Given the description of an element on the screen output the (x, y) to click on. 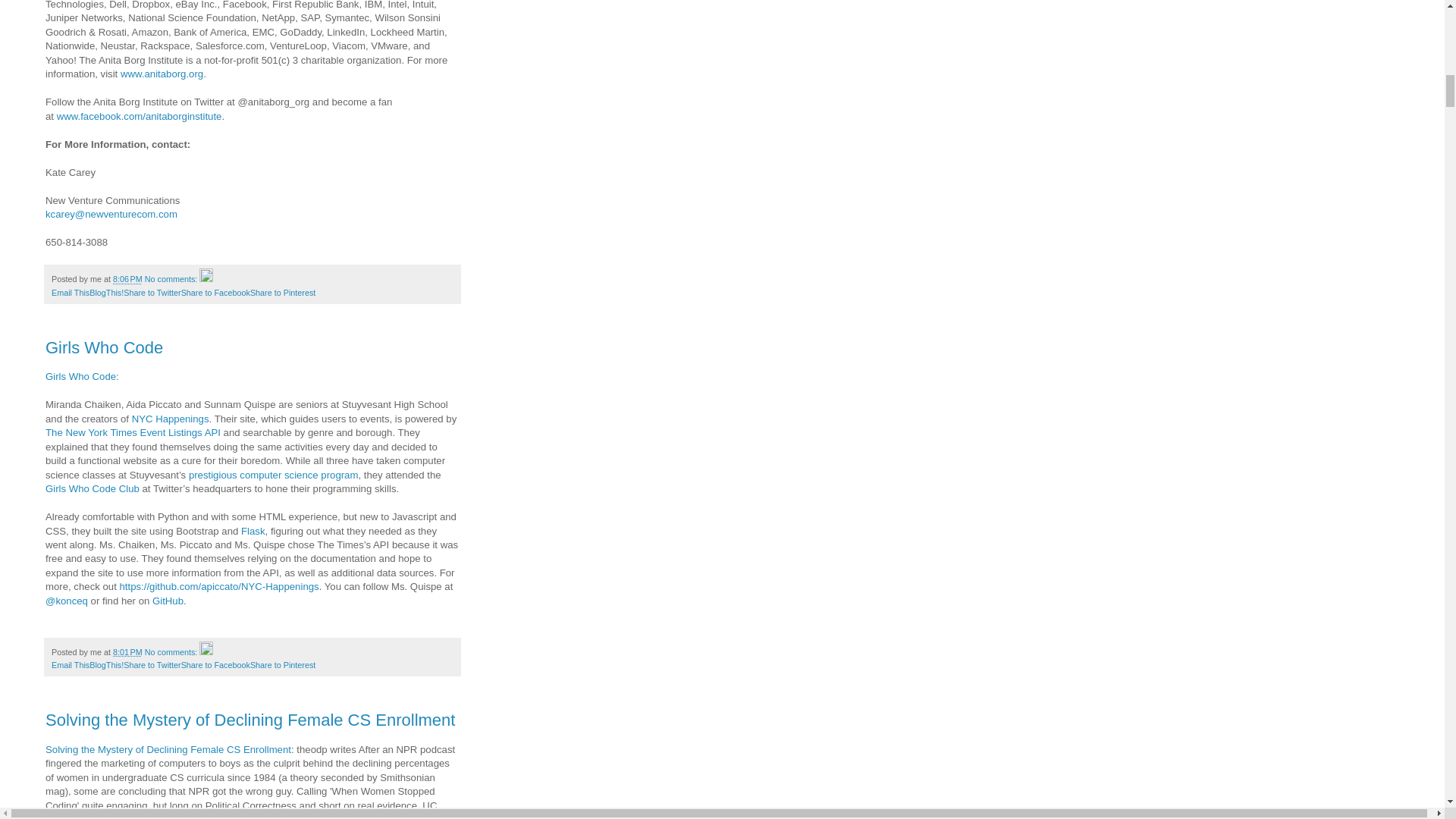
Flask (252, 531)
No comments: (172, 278)
Email This (69, 664)
BlogThis! (105, 292)
Share to Pinterest (282, 292)
GitHub (167, 600)
Share to Pinterest (282, 664)
Share to Pinterest (282, 664)
Girls Who Code Club (92, 488)
permanent link (127, 278)
